Given the description of an element on the screen output the (x, y) to click on. 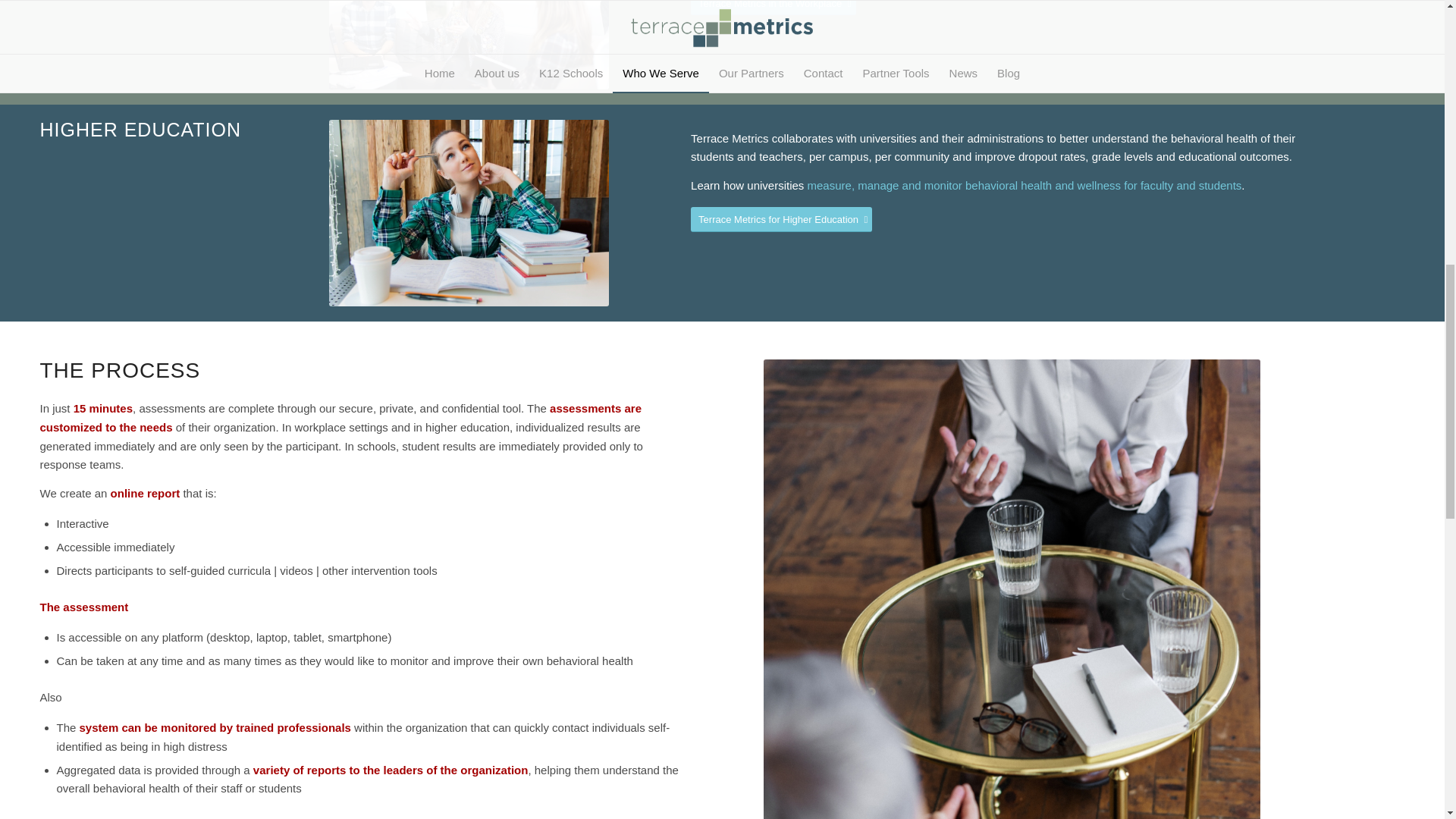
Terrace Metrics for Higher Education (781, 219)
Terrace Metrics in the Workplace (773, 7)
